Given the description of an element on the screen output the (x, y) to click on. 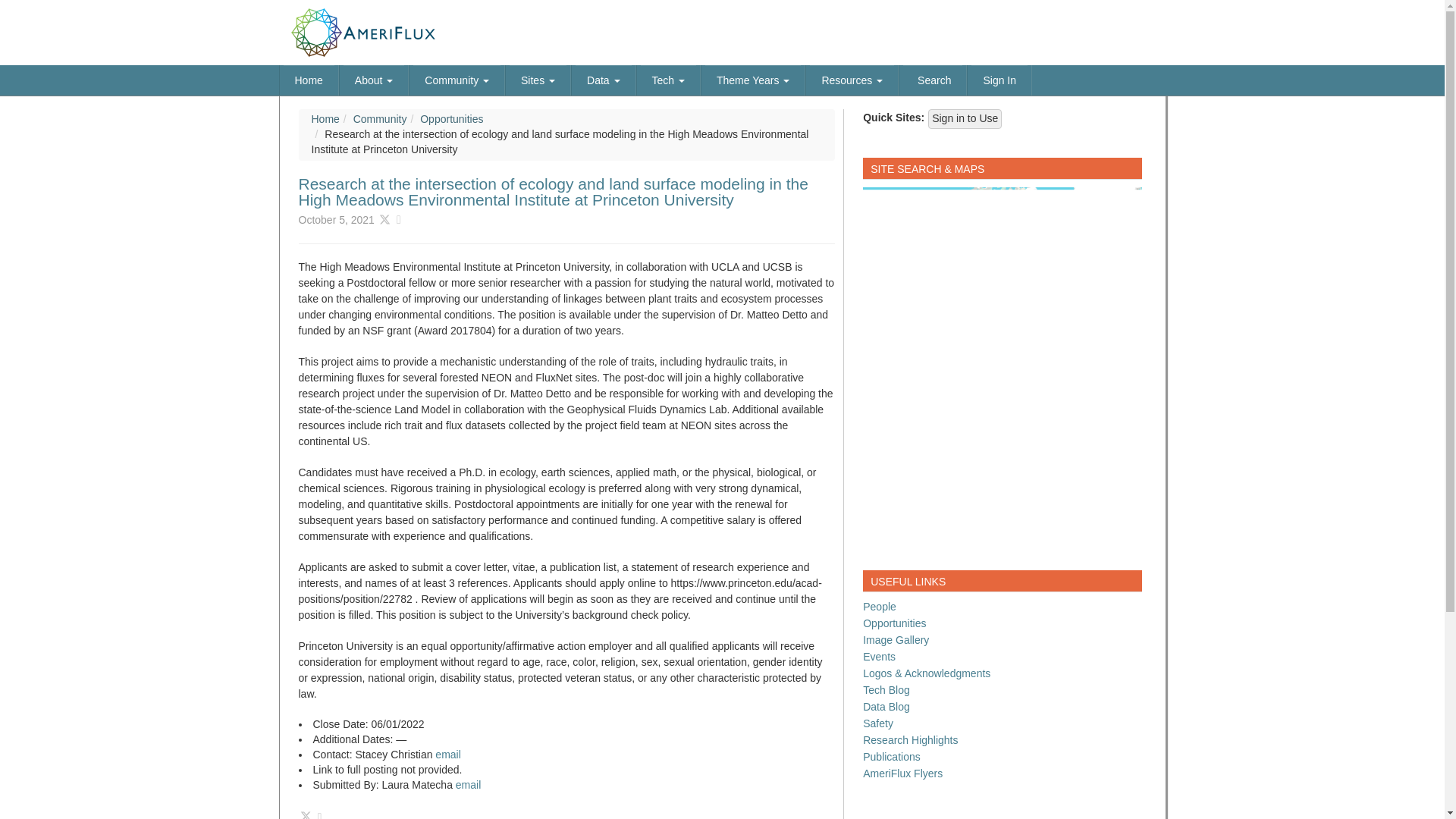
Community (456, 80)
Data (602, 80)
About (373, 80)
Home (308, 80)
Home (308, 80)
About (373, 80)
Sites (537, 80)
Community (456, 80)
